Given the description of an element on the screen output the (x, y) to click on. 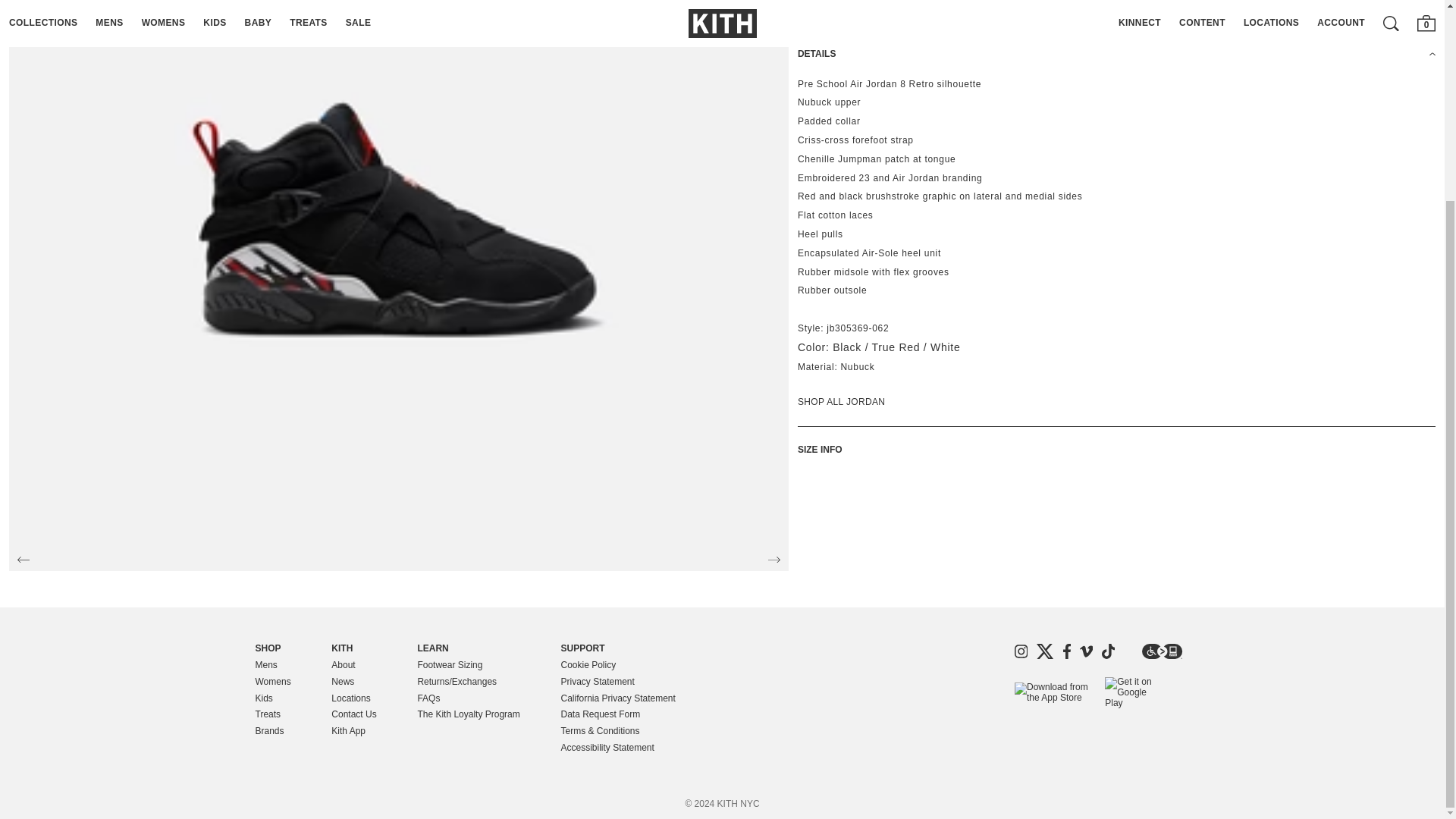
X (1044, 651)
jb305369-062 (857, 327)
essential Accessibility Icon (1161, 651)
Vimeo (1086, 651)
X (1044, 651)
Instagram (1020, 651)
